Given the description of an element on the screen output the (x, y) to click on. 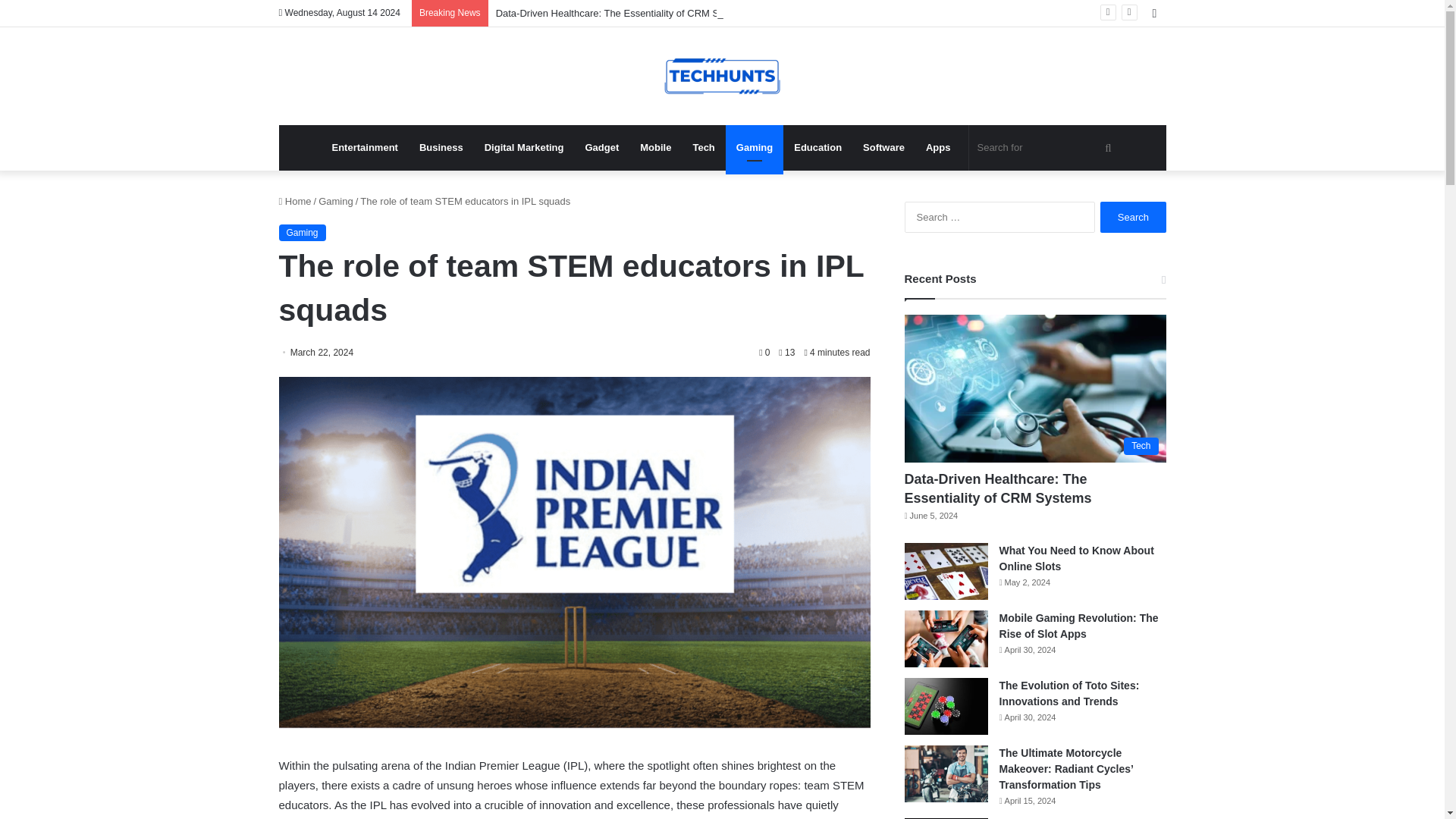
Gaming (754, 147)
Gaming (335, 201)
Apps (937, 147)
Gadget (600, 147)
Digital Marketing (524, 147)
Search for (1045, 147)
Education (817, 147)
Mobile (654, 147)
Entertainment (365, 147)
Search (1133, 216)
